Given the description of an element on the screen output the (x, y) to click on. 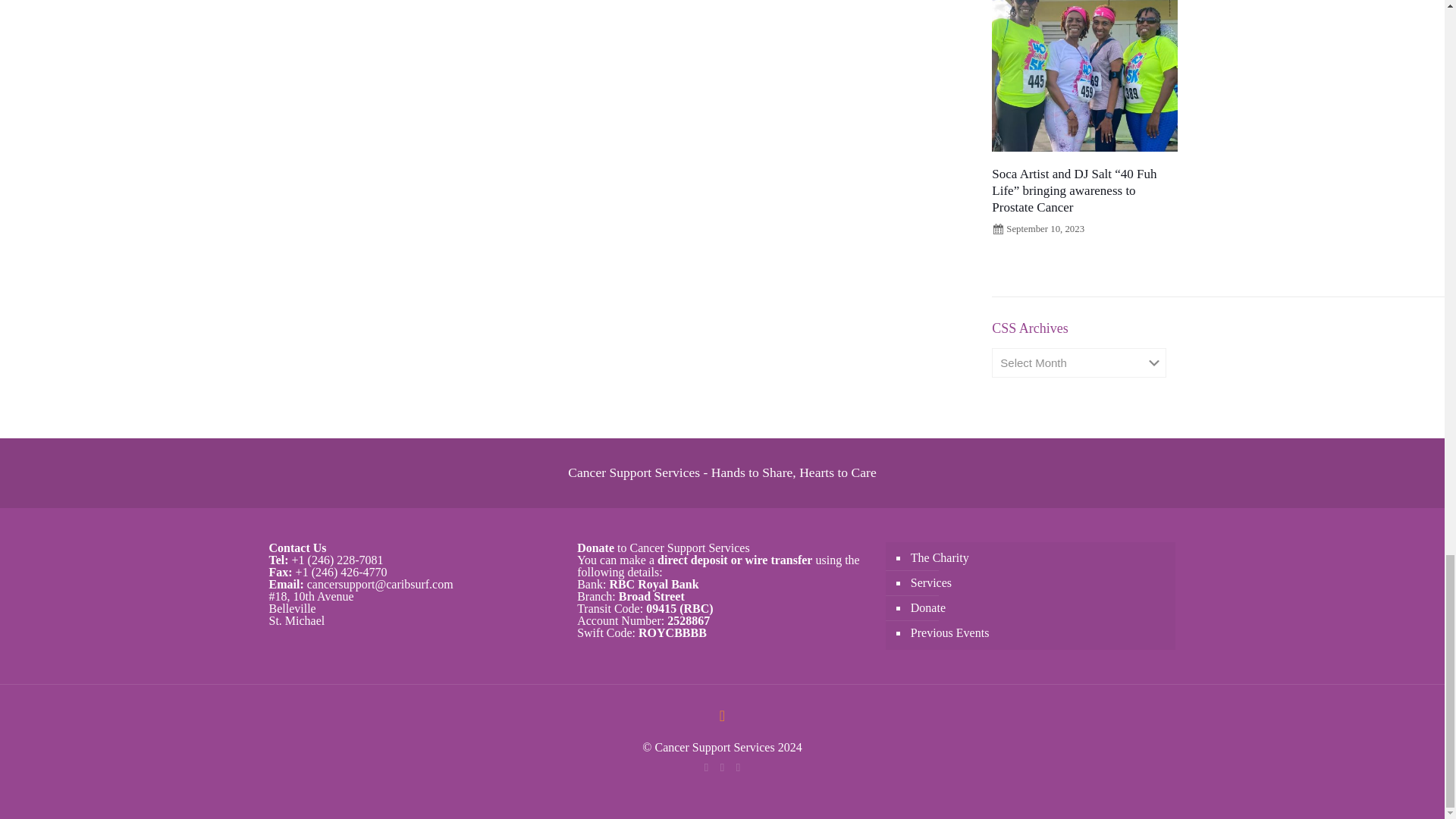
Facebook (705, 767)
YouTube (722, 767)
Instagram (738, 767)
